Given the description of an element on the screen output the (x, y) to click on. 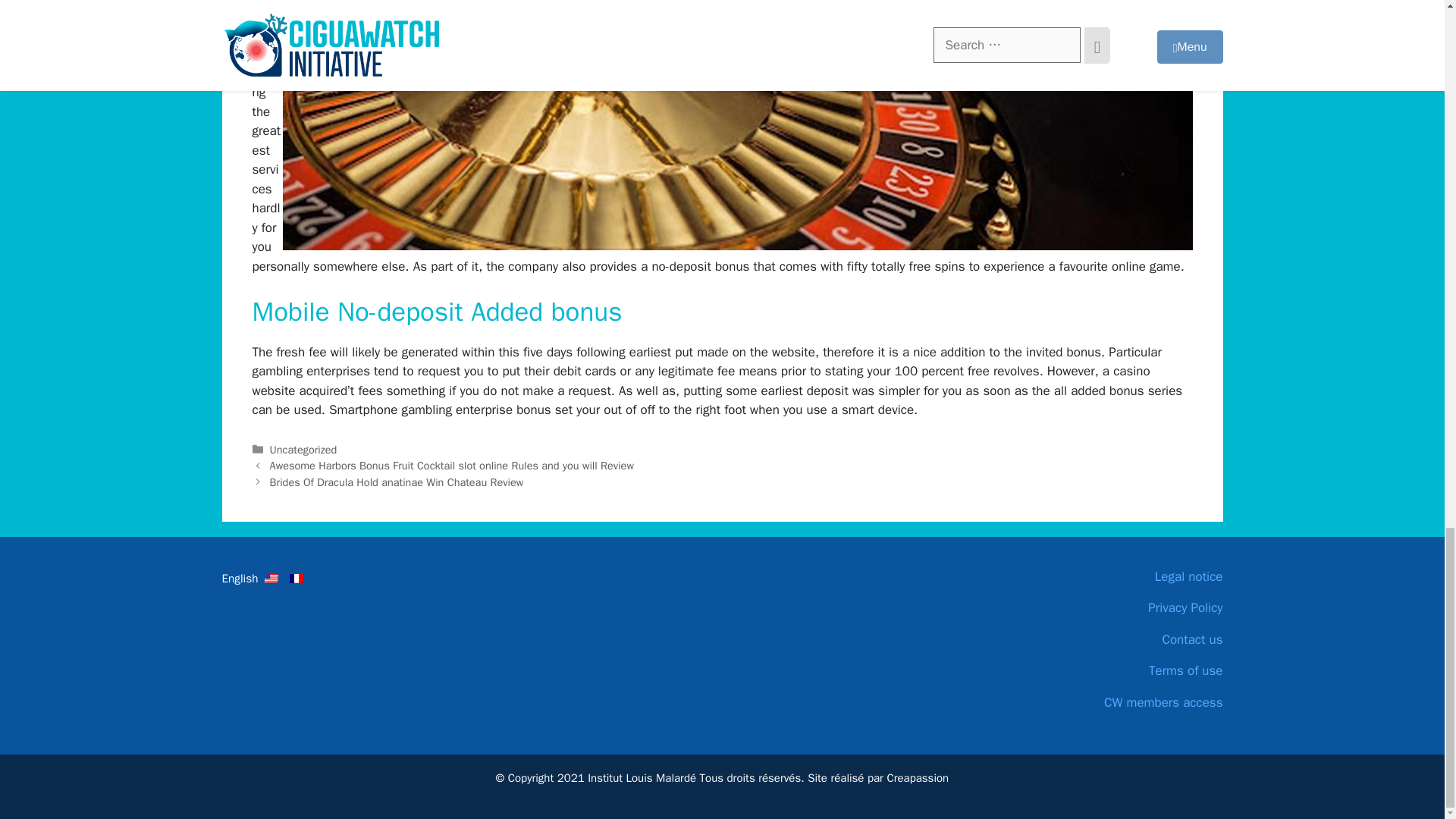
Next (396, 481)
Contact us (1108, 639)
Legal notice (1108, 577)
Previous (451, 465)
Terms of use (1108, 670)
Brides Of Dracula Hold anatinae Win Chateau Review (396, 481)
Uncategorized (303, 449)
CW members access (1108, 702)
Privacy Policy (1108, 608)
